Given the description of an element on the screen output the (x, y) to click on. 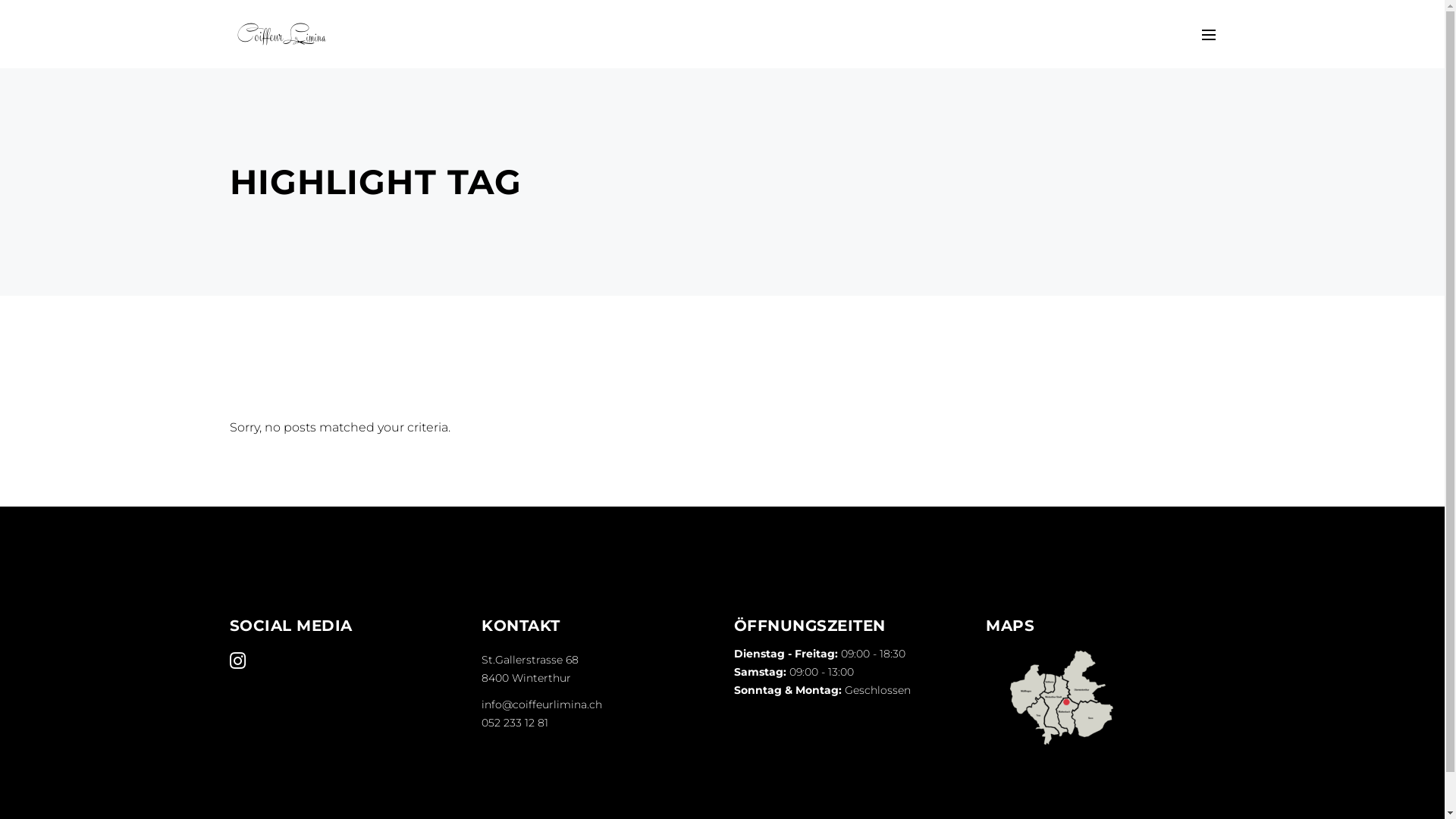
info@coiffeurlimina.ch Element type: text (541, 704)
Maps Element type: hover (1061, 697)
052 233 12 81 Element type: text (514, 722)
